Given the description of an element on the screen output the (x, y) to click on. 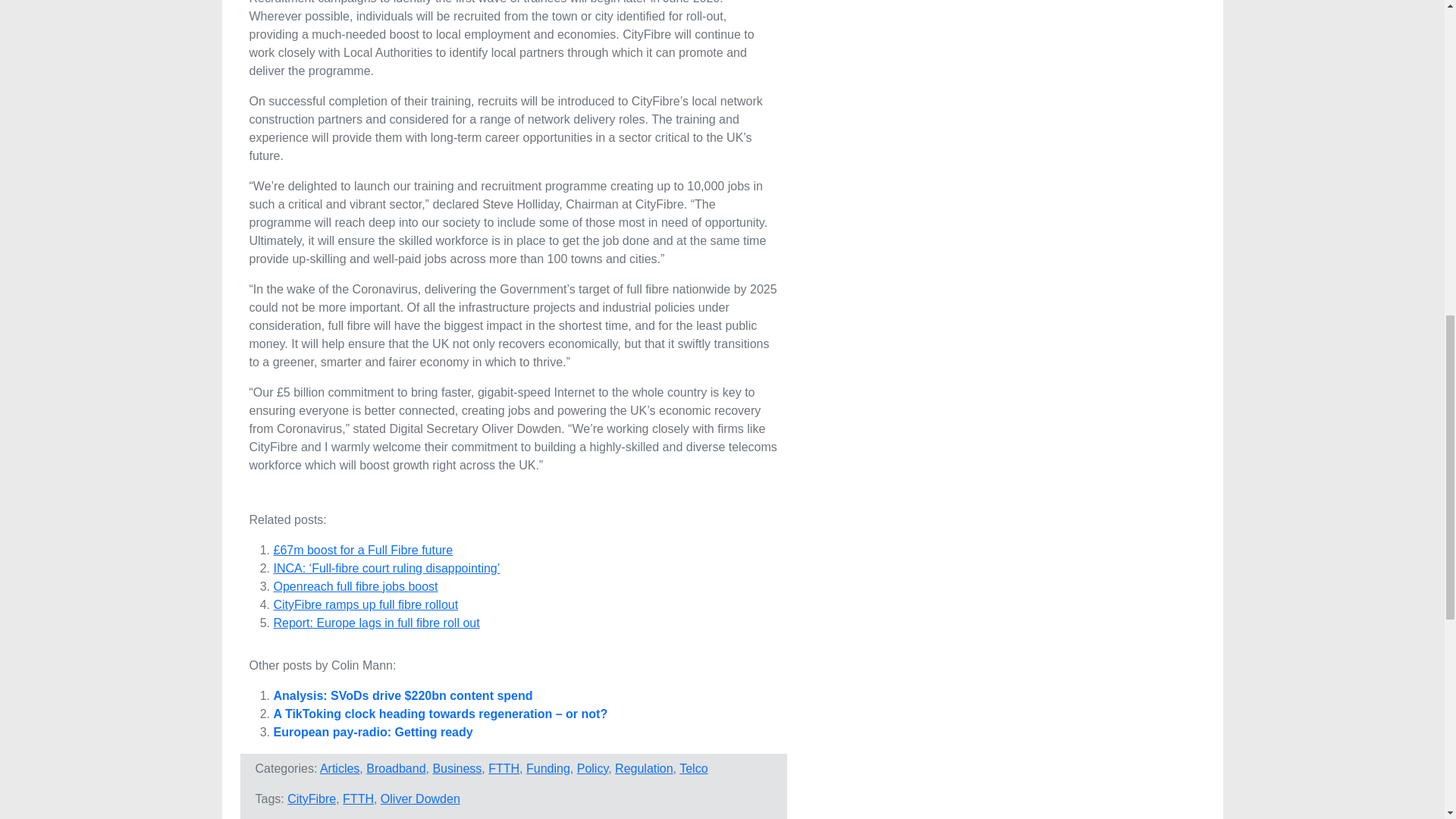
European pay-radio: Getting ready (372, 731)
Policy (592, 768)
Openreach full fibre jobs boost (355, 585)
Openreach full fibre jobs boost (355, 585)
CityFibre (311, 798)
FTTH (503, 768)
Telco (693, 768)
Articles (339, 768)
Business (456, 768)
Regulation (643, 768)
Funding (547, 768)
Report: Europe lags in full fibre roll out (376, 622)
Broadband (395, 768)
CityFibre ramps up full fibre rollout (365, 604)
Report: Europe lags in full fibre roll out (376, 622)
